Given the description of an element on the screen output the (x, y) to click on. 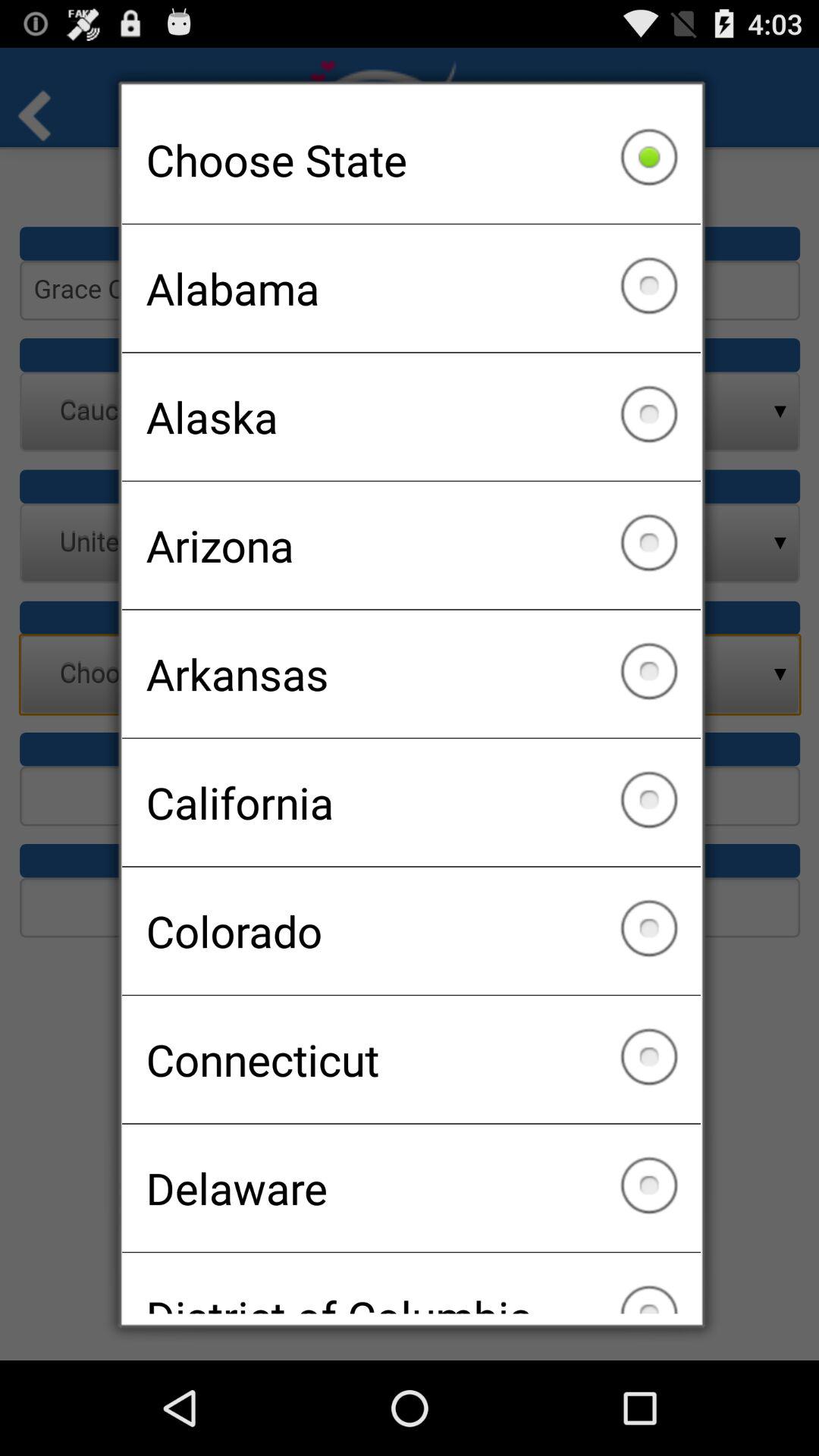
tap the item above the connecticut item (411, 930)
